Given the description of an element on the screen output the (x, y) to click on. 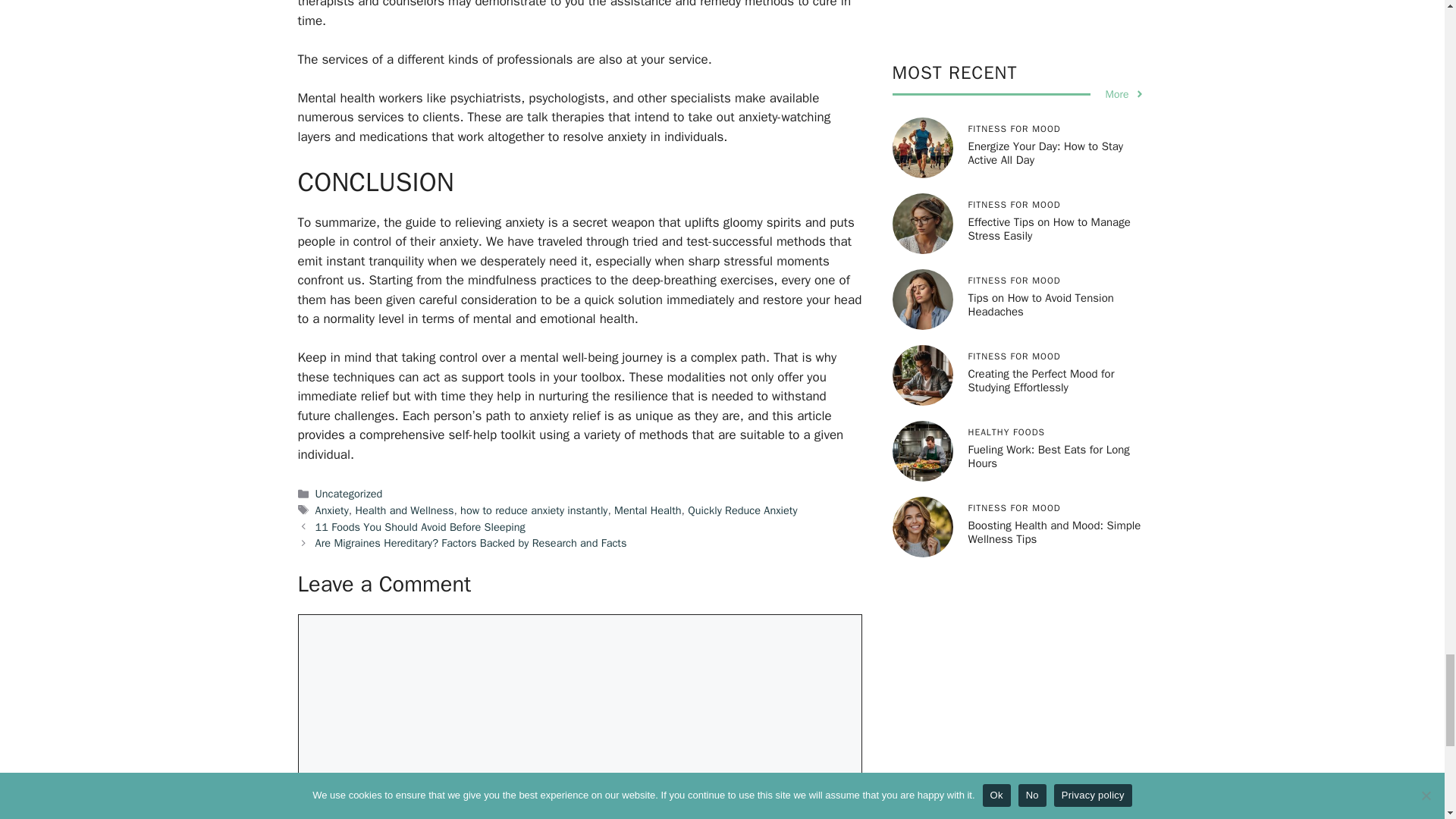
how to reduce anxiety instantly (533, 509)
Uncategorized (348, 493)
Health and Wellness (403, 509)
11 Foods You Should Avoid Before Sleeping (420, 526)
Anxiety (332, 509)
Quickly Reduce Anxiety (741, 509)
Mental Health (647, 509)
